Given the description of an element on the screen output the (x, y) to click on. 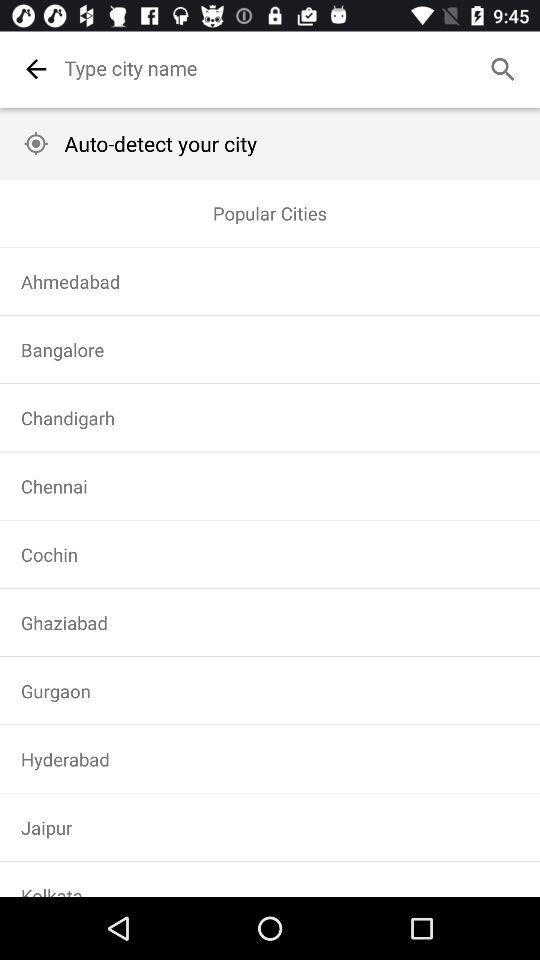
return to previous screen (36, 69)
